Given the description of an element on the screen output the (x, y) to click on. 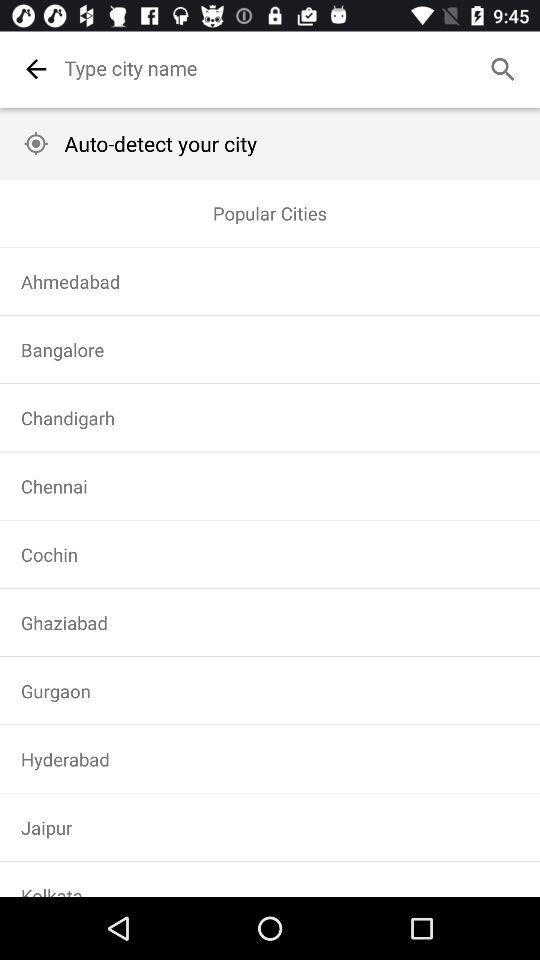
return to previous screen (36, 69)
